Given the description of an element on the screen output the (x, y) to click on. 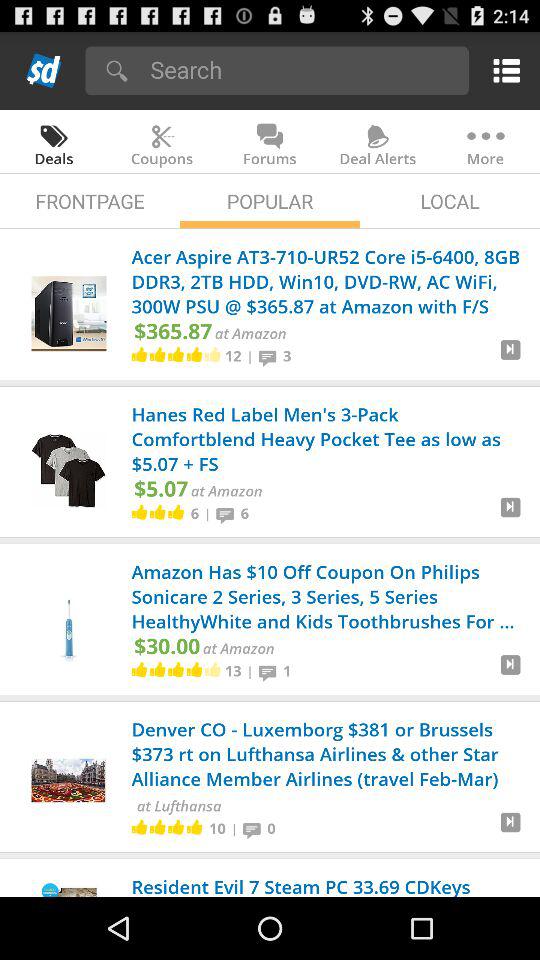
go to amazon (510, 672)
